Given the description of an element on the screen output the (x, y) to click on. 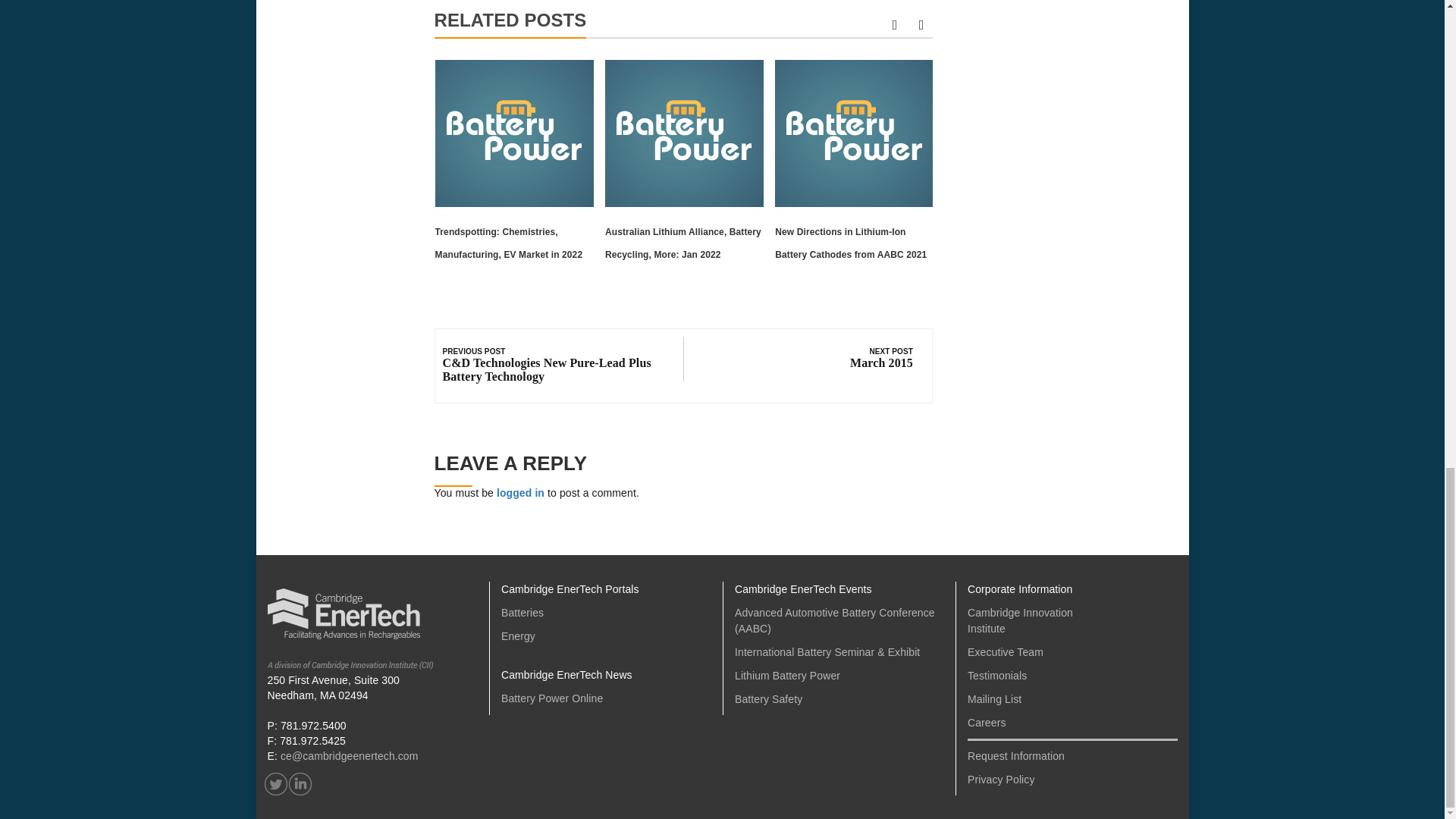
Careers (987, 722)
